Given the description of an element on the screen output the (x, y) to click on. 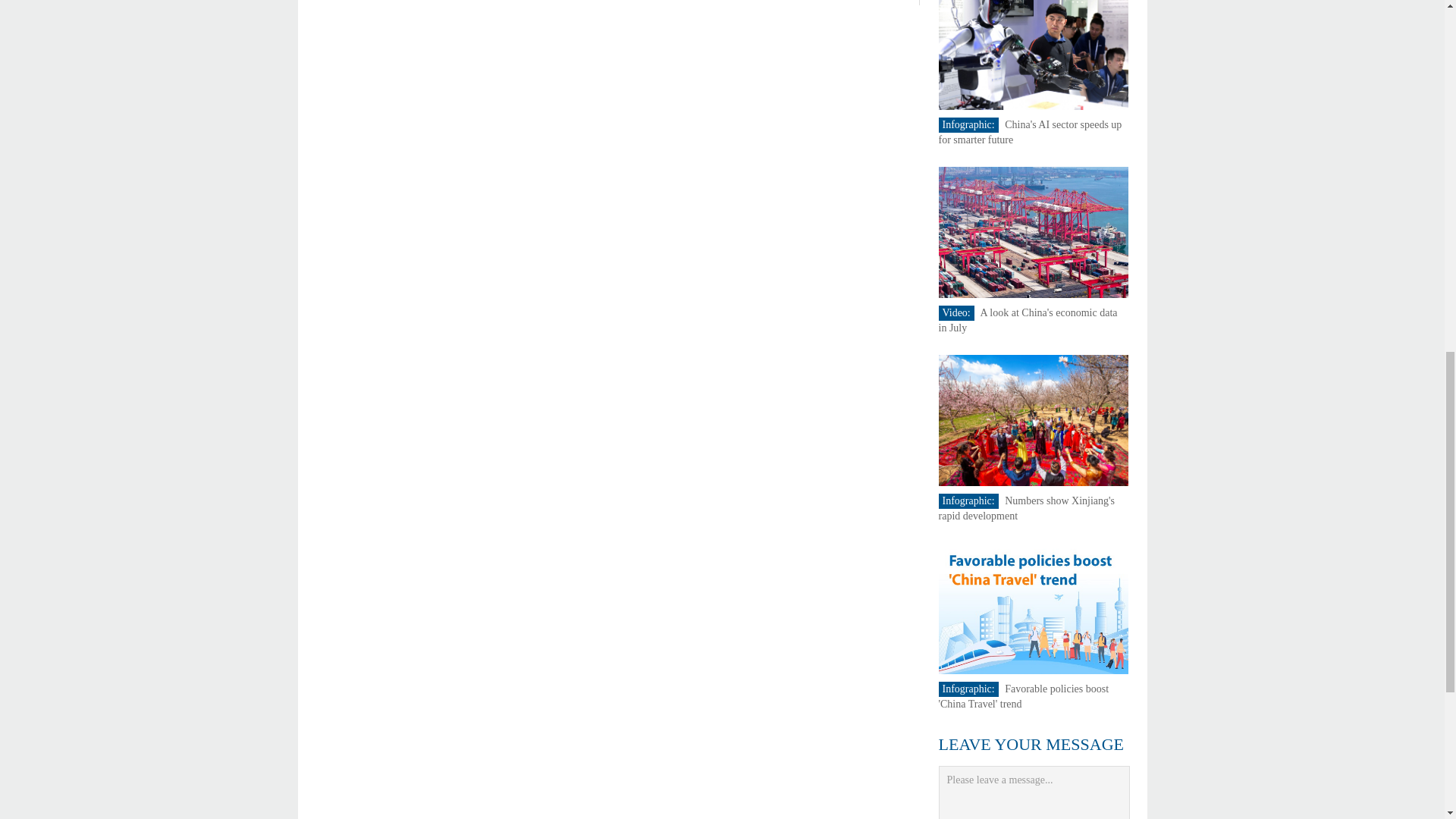
LEAVE YOUR MESSAGE (1031, 743)
Numbers show Xinjiang's rapid development (1027, 508)
China's AI sector speeds up for smarter future (1030, 131)
A look at China's economic data in July (1028, 320)
Favorable policies boost 'China Travel' trend (1024, 696)
